Given the description of an element on the screen output the (x, y) to click on. 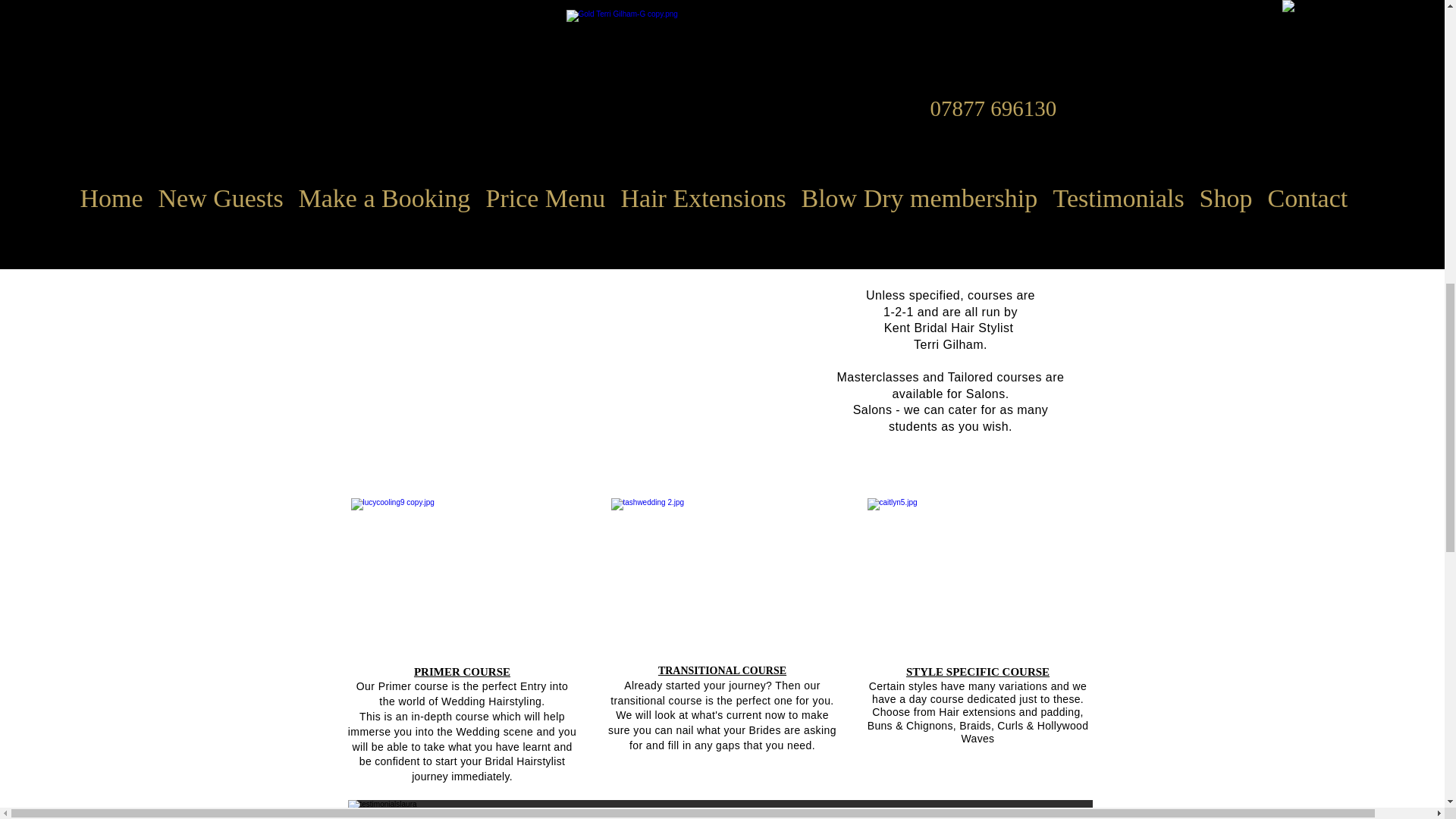
TRANSITIONAL COURSE (722, 670)
PRIMER COURSE (462, 671)
STYLE SPECIFIC COURSE (977, 671)
